Given the description of an element on the screen output the (x, y) to click on. 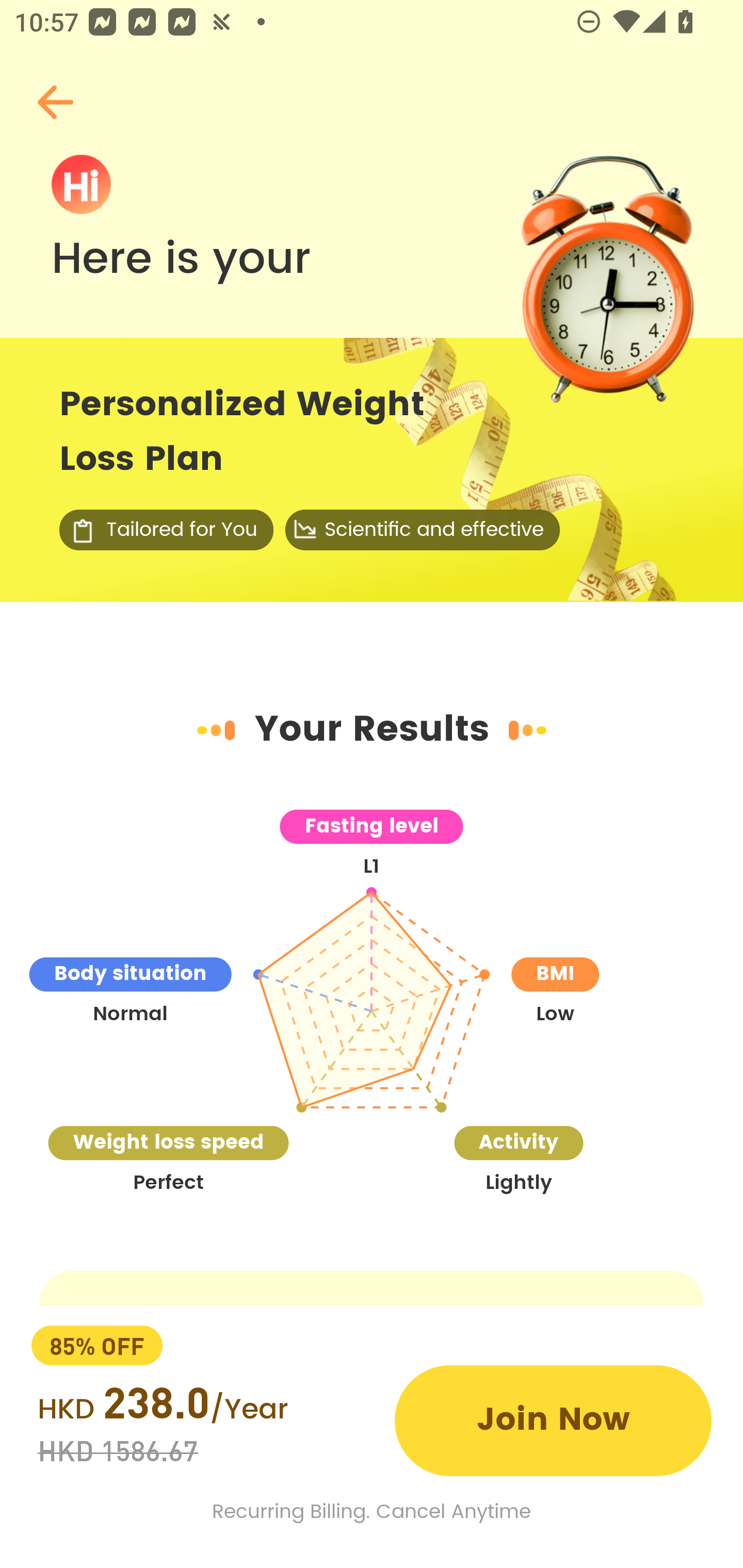
Join Now (552, 1420)
